Given the description of an element on the screen output the (x, y) to click on. 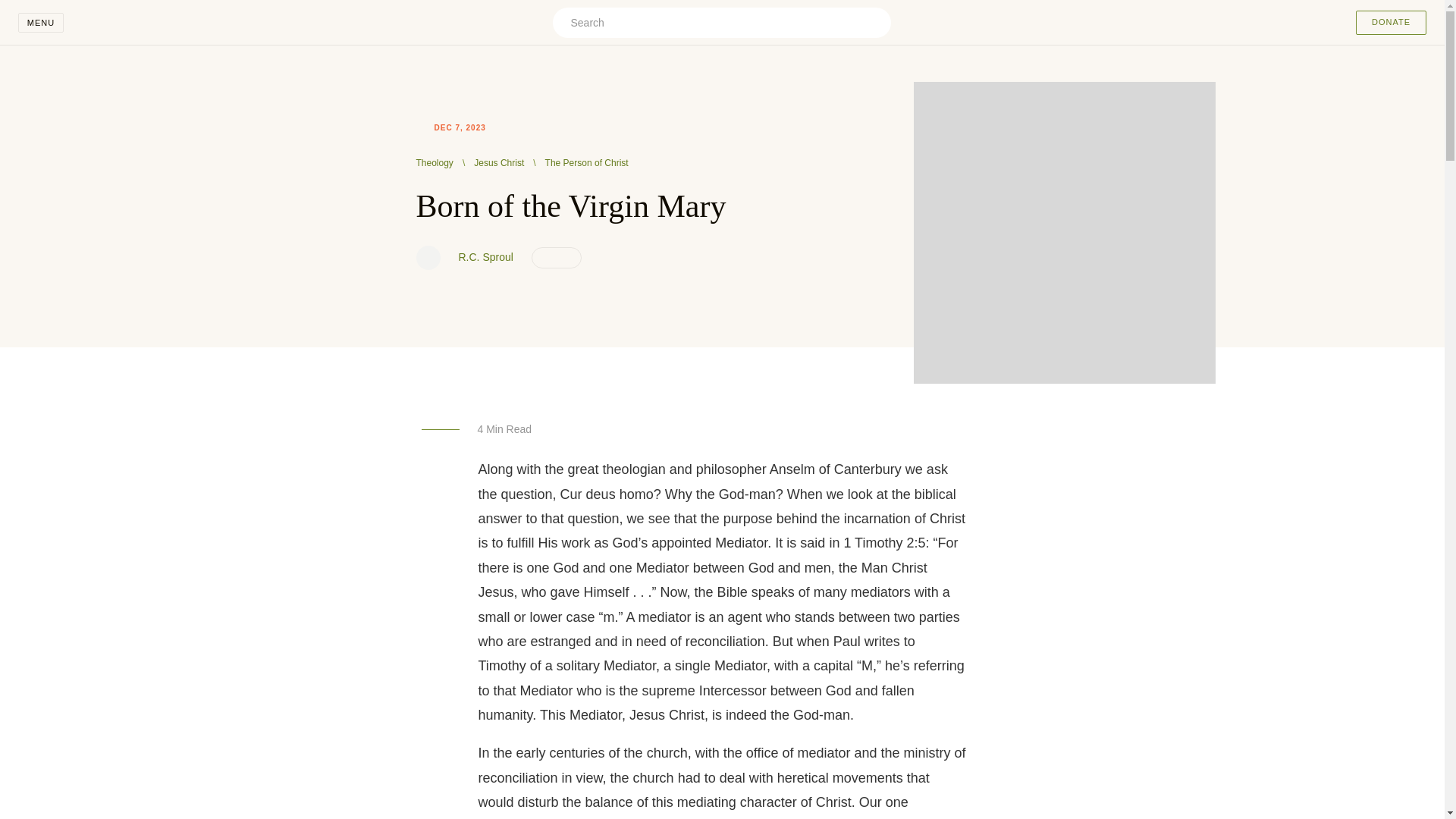
DONATE (1390, 22)
MENU (40, 22)
